Given the description of an element on the screen output the (x, y) to click on. 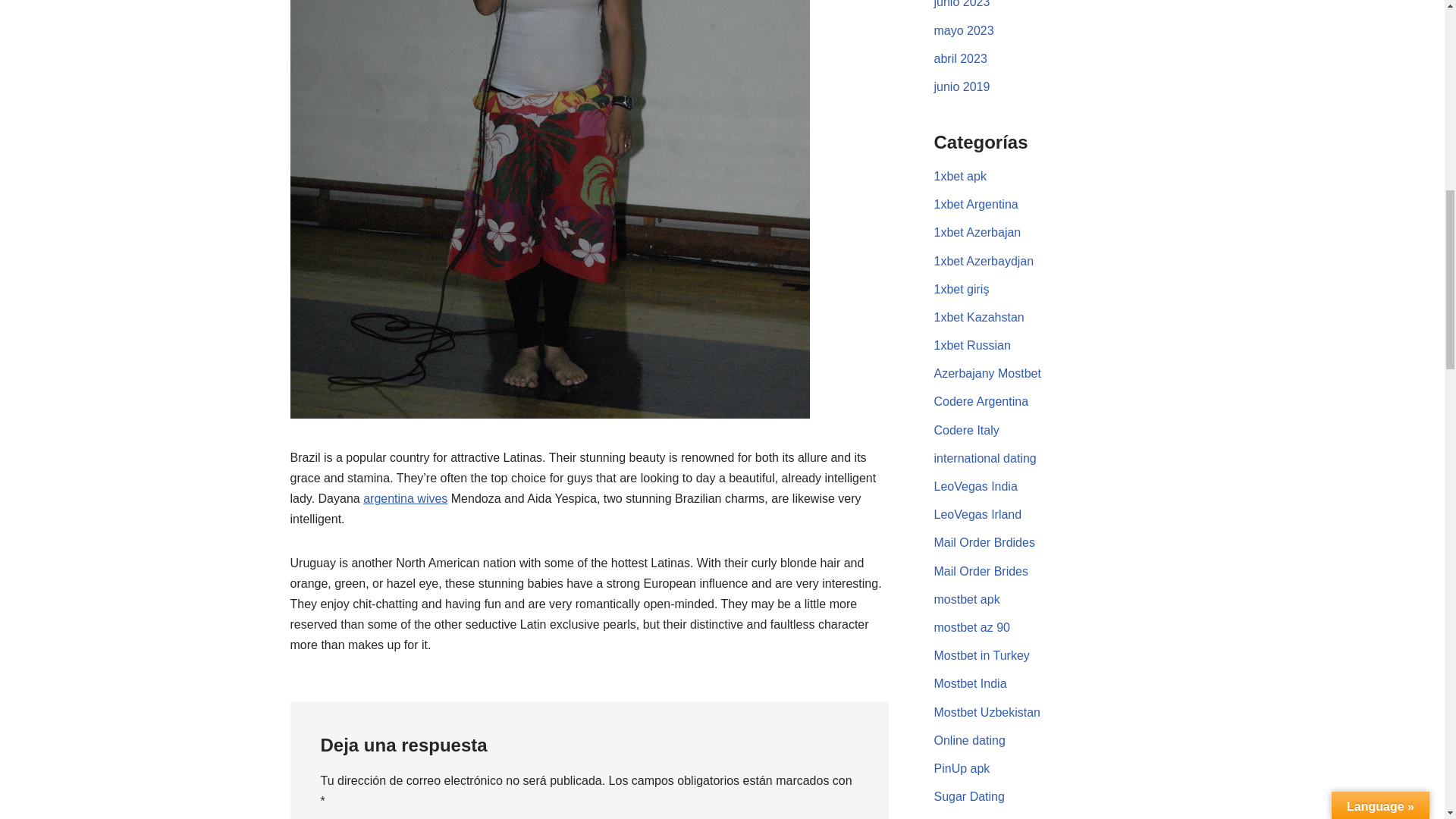
mayo 2023 (964, 30)
1xbet Azerbaydjan (983, 260)
1xbet Azerbajan (978, 232)
junio 2019 (962, 86)
1xbet apk (960, 175)
abril 2023 (960, 58)
junio 2023 (962, 4)
1xbet Argentina (975, 204)
argentina wives (404, 498)
